Given the description of an element on the screen output the (x, y) to click on. 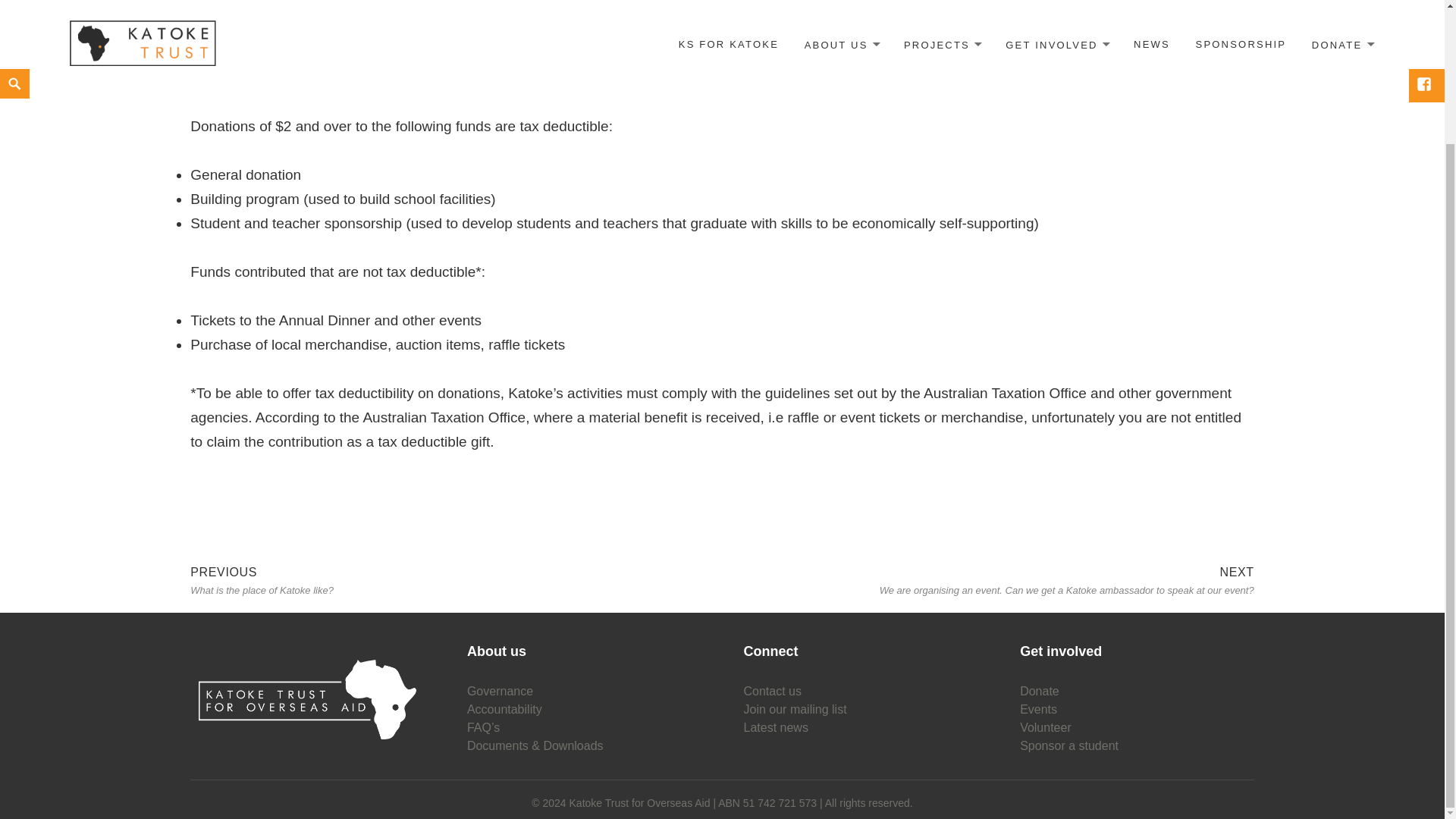
Katoke Trust for Overseas Aid (740, 802)
Contact us (773, 691)
Accountability (504, 709)
Latest news (776, 727)
Governance (499, 691)
Join our mailing list (795, 709)
